Given the description of an element on the screen output the (x, y) to click on. 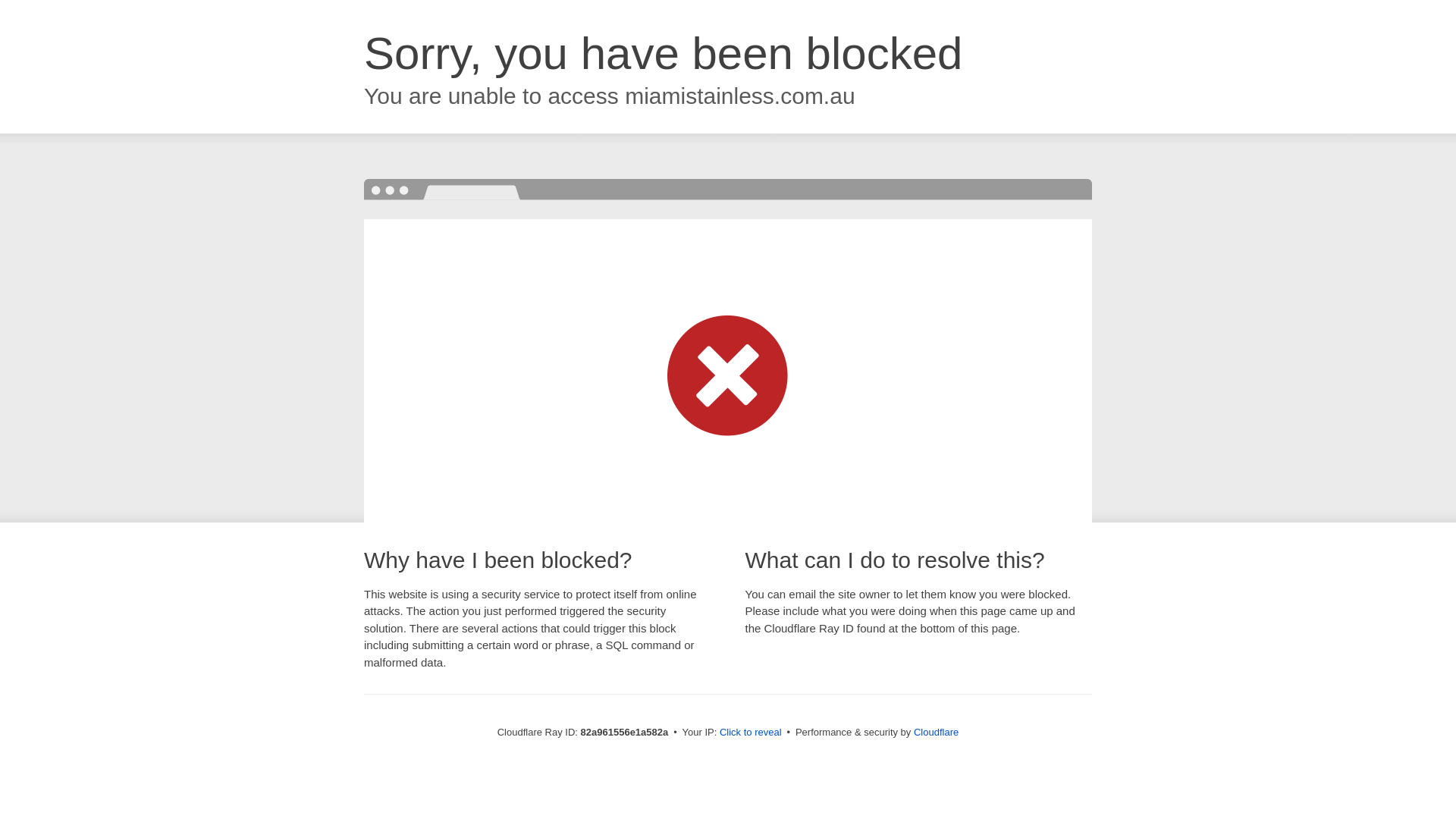
Click to reveal Element type: text (750, 732)
Cloudflare Element type: text (935, 731)
